Given the description of an element on the screen output the (x, y) to click on. 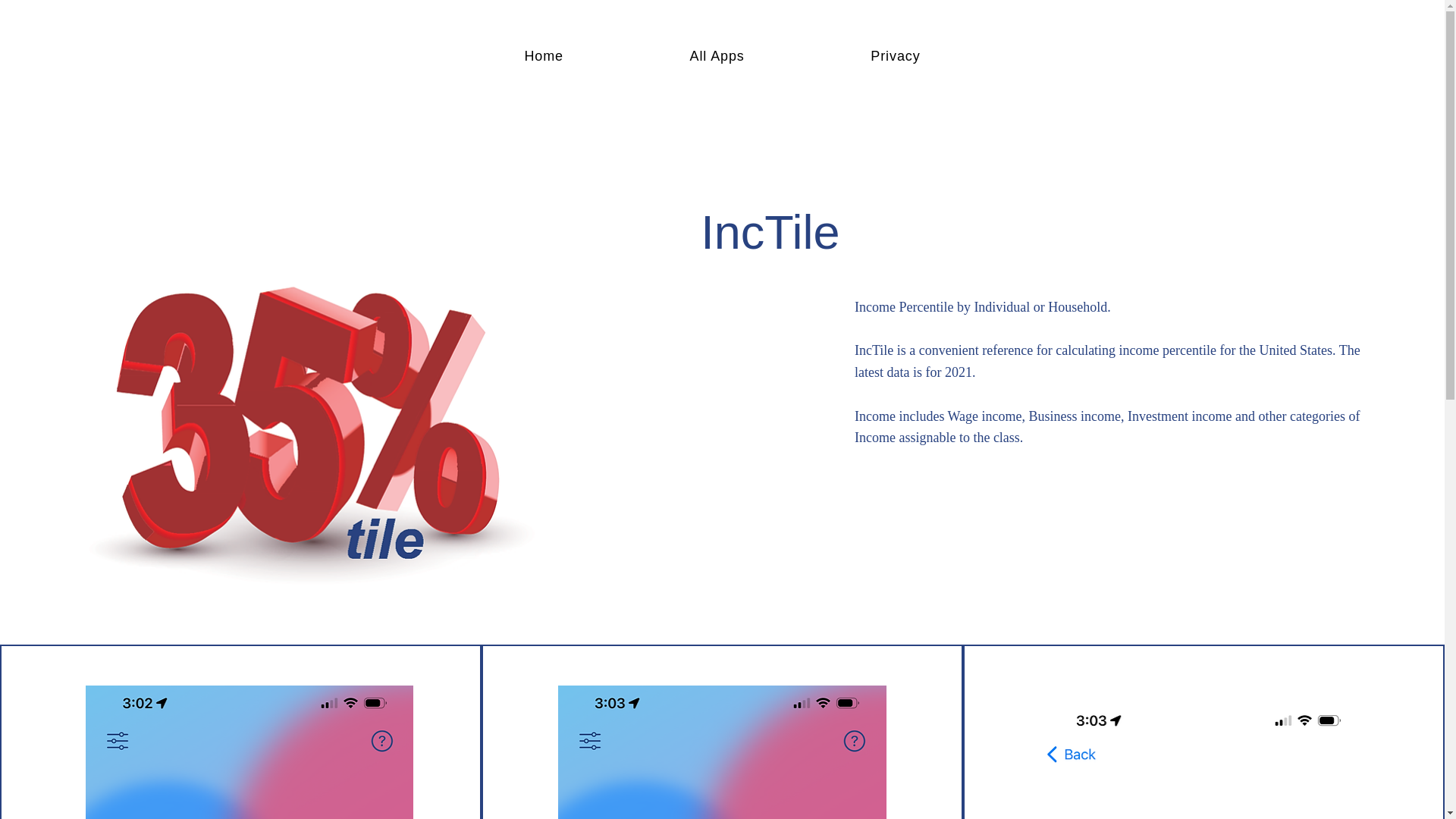
All Apps (716, 56)
Privacy (895, 56)
Home (542, 56)
